Given the description of an element on the screen output the (x, y) to click on. 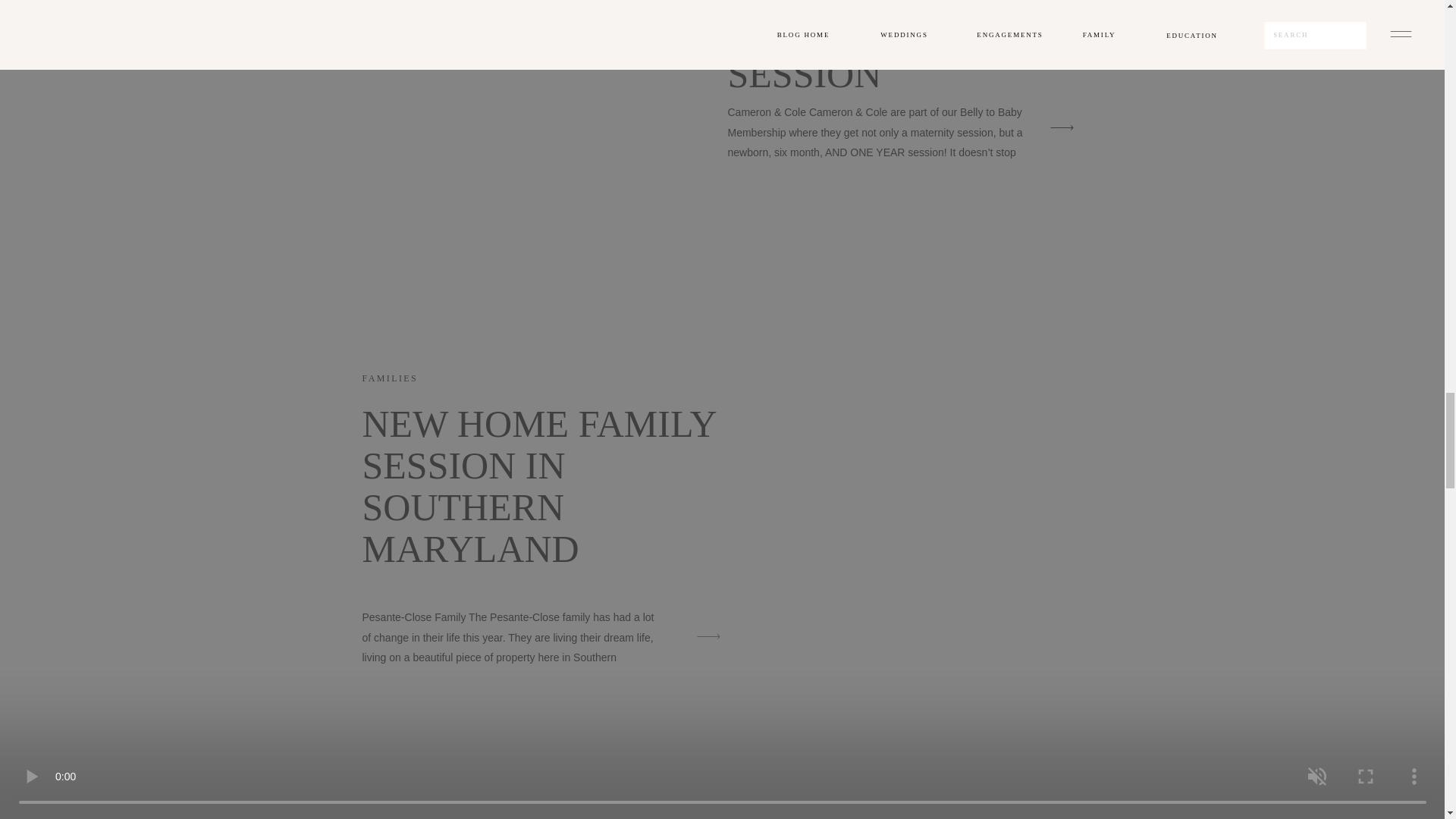
FAMILIES (390, 378)
SOUTHERN MARYLAND WINTER MATERNITY SESSION (836, 47)
New Home Family Session in Southern Maryland (708, 636)
Southern Maryland Winter Maternity Session (1061, 127)
Southern Maryland Winter Maternity Session (511, 109)
arrow (1061, 127)
arrow (1061, 127)
arrow (708, 636)
Fall Jubilee Farm Wedding (511, 803)
NEW HOME FAMILY SESSION IN SOUTHERN MARYLAND (539, 486)
